Given the description of an element on the screen output the (x, y) to click on. 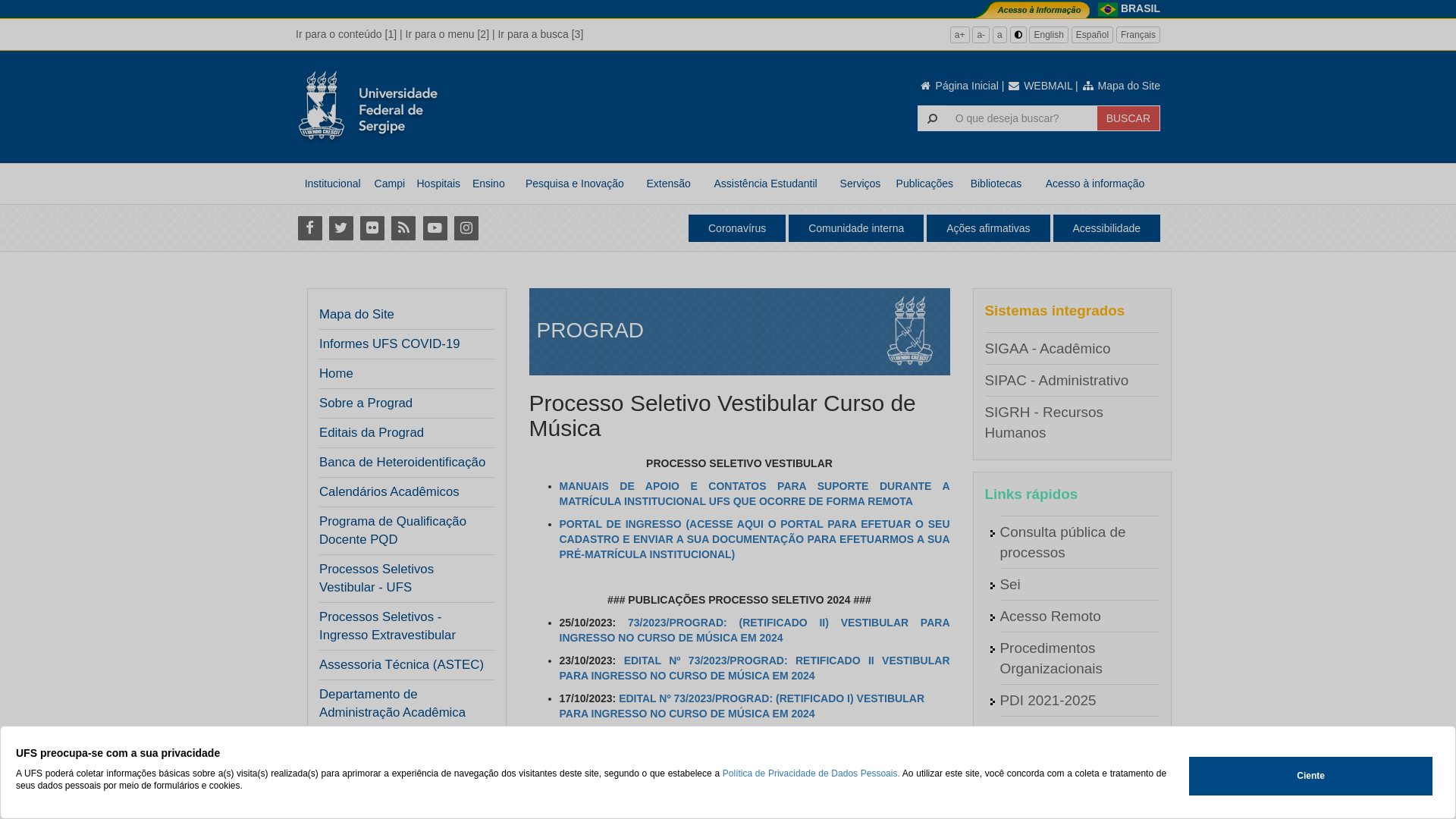
Mapa do Site Element type: text (356, 314)
Acesso Remoto Element type: text (1049, 616)
Bibliotecas Element type: text (995, 183)
Informes UFS COVID-19 Element type: text (389, 343)
BRASIL Element type: text (1140, 8)
a- Element type: text (980, 34)
Institucional Element type: text (332, 183)
Comunidade interna Element type: text (855, 227)
Acessibilidade Element type: text (1106, 227)
Mapa do Site Element type: text (1120, 85)
a Element type: text (999, 34)
SIPAC - Administrativo Element type: text (1056, 380)
Ensino Element type: text (488, 183)
Editais da Prograd Element type: text (402, 432)
Campi Element type: text (389, 183)
Home Element type: text (336, 373)
Sobre a Prograd Element type: text (365, 403)
Procedimentos Organizacionais Element type: text (1050, 658)
Processos Seletivos Vestibular - UFS Element type: text (402, 578)
PDI 2021-2025 Element type: text (1047, 700)
Sei Element type: text (1009, 584)
Instagram Element type: text (465, 227)
Agenda do Reitor Element type: text (1054, 732)
BUSCAR Element type: text (1128, 118)
Telefones Element type: text (1029, 795)
Ir para a busca [3] Element type: text (540, 34)
Processos Seletivos - Ingresso Extravestibular Element type: text (402, 625)
Flickr Element type: text (371, 227)
RSS Element type: text (403, 227)
WEBMAIL Element type: text (1039, 85)
Facebook Element type: text (309, 227)
English Element type: text (1048, 34)
SIGRH - Recursos Humanos Element type: text (1043, 422)
Youtube Element type: text (434, 227)
Ir para o menu [2] Element type: text (447, 34)
Hospitais Element type: text (438, 183)
Twitter Element type: text (340, 227)
Agenda do Vice-Reitor Element type: text (1071, 763)
a+ Element type: text (959, 34)
